Given the description of an element on the screen output the (x, y) to click on. 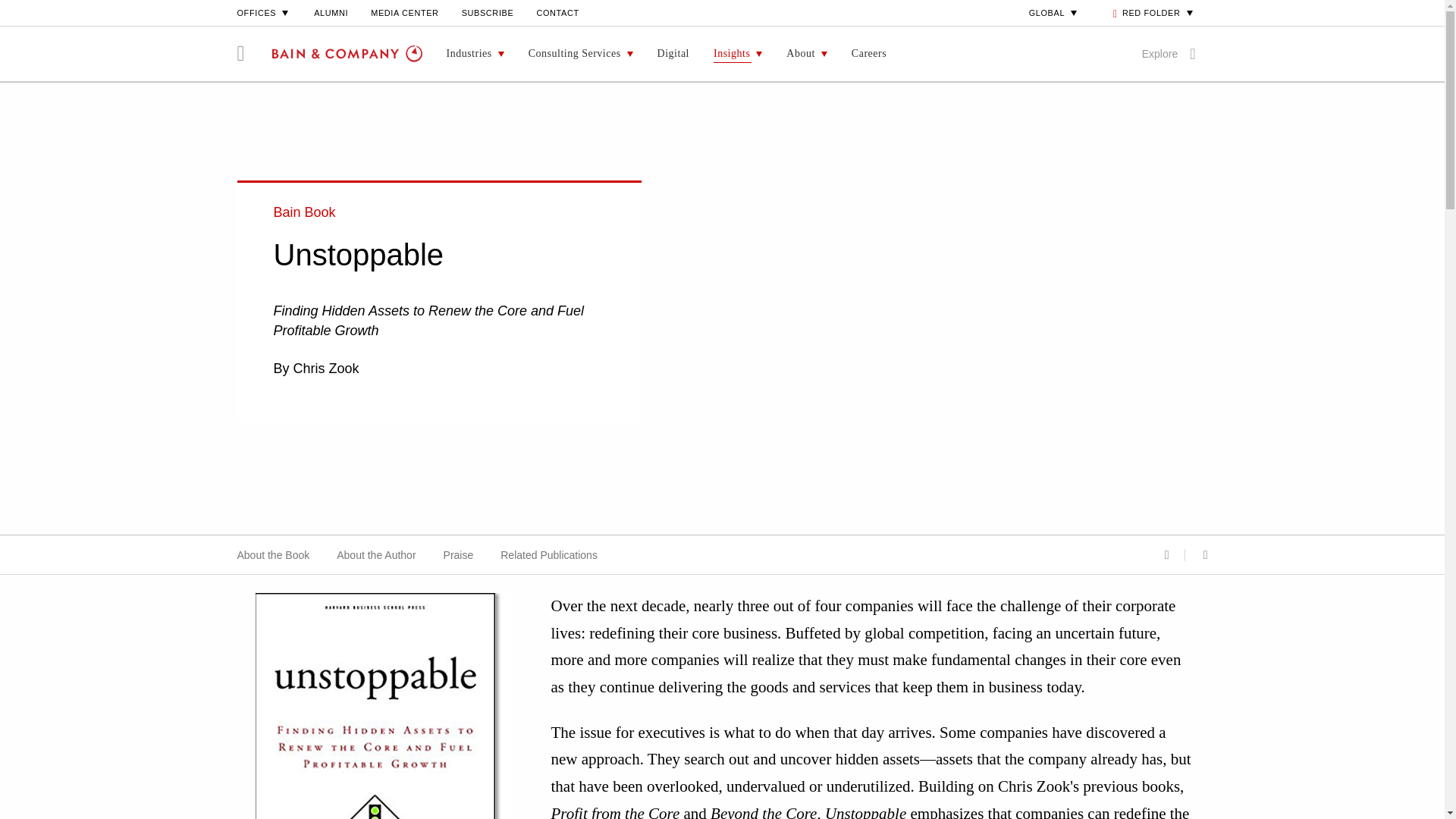
OFFICES (263, 12)
